Given the description of an element on the screen output the (x, y) to click on. 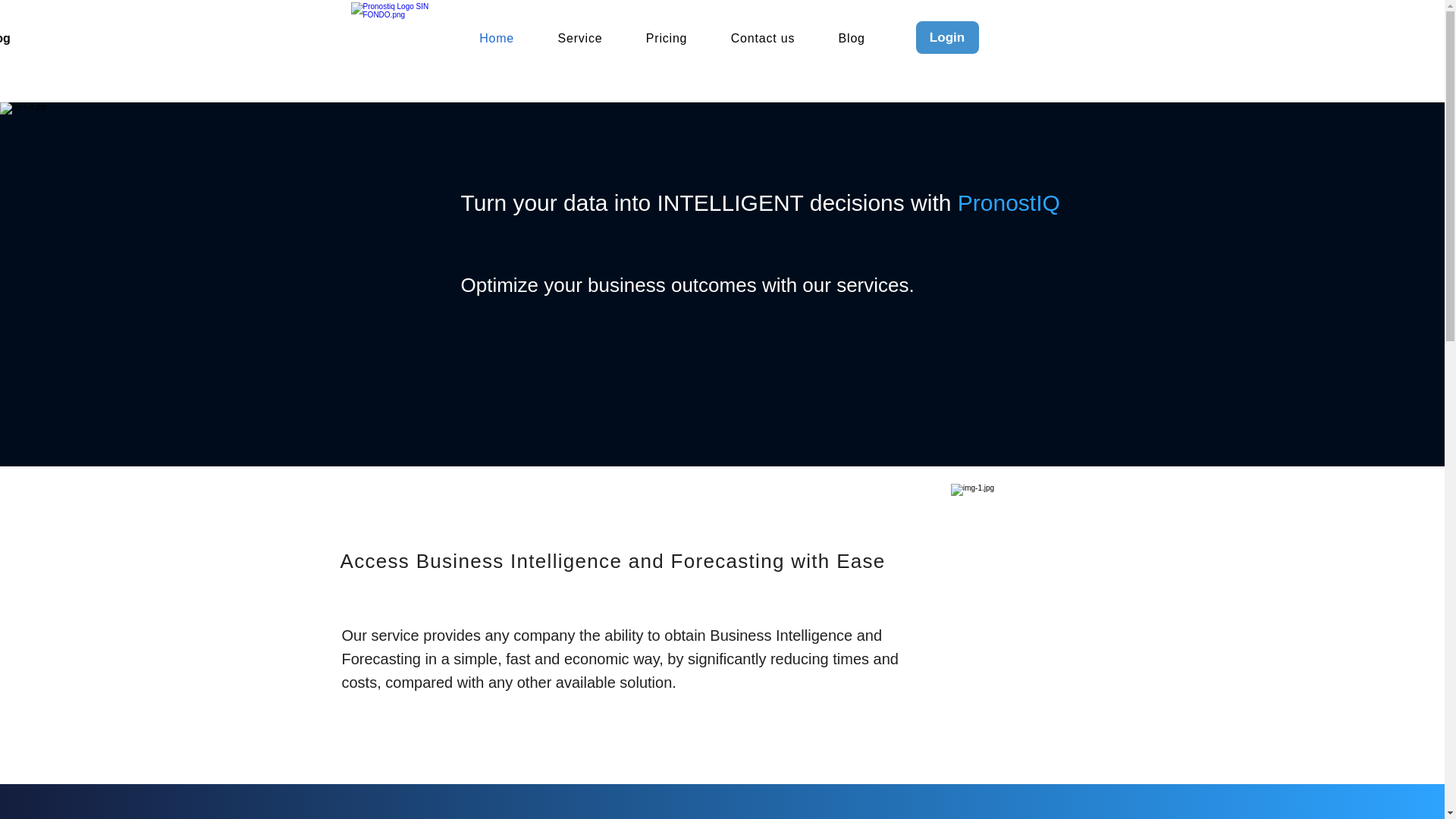
Contact us (762, 38)
Login (946, 37)
Blog (851, 38)
Blog (17, 38)
Pricing (666, 38)
Service (579, 38)
Home (496, 38)
